Given the description of an element on the screen output the (x, y) to click on. 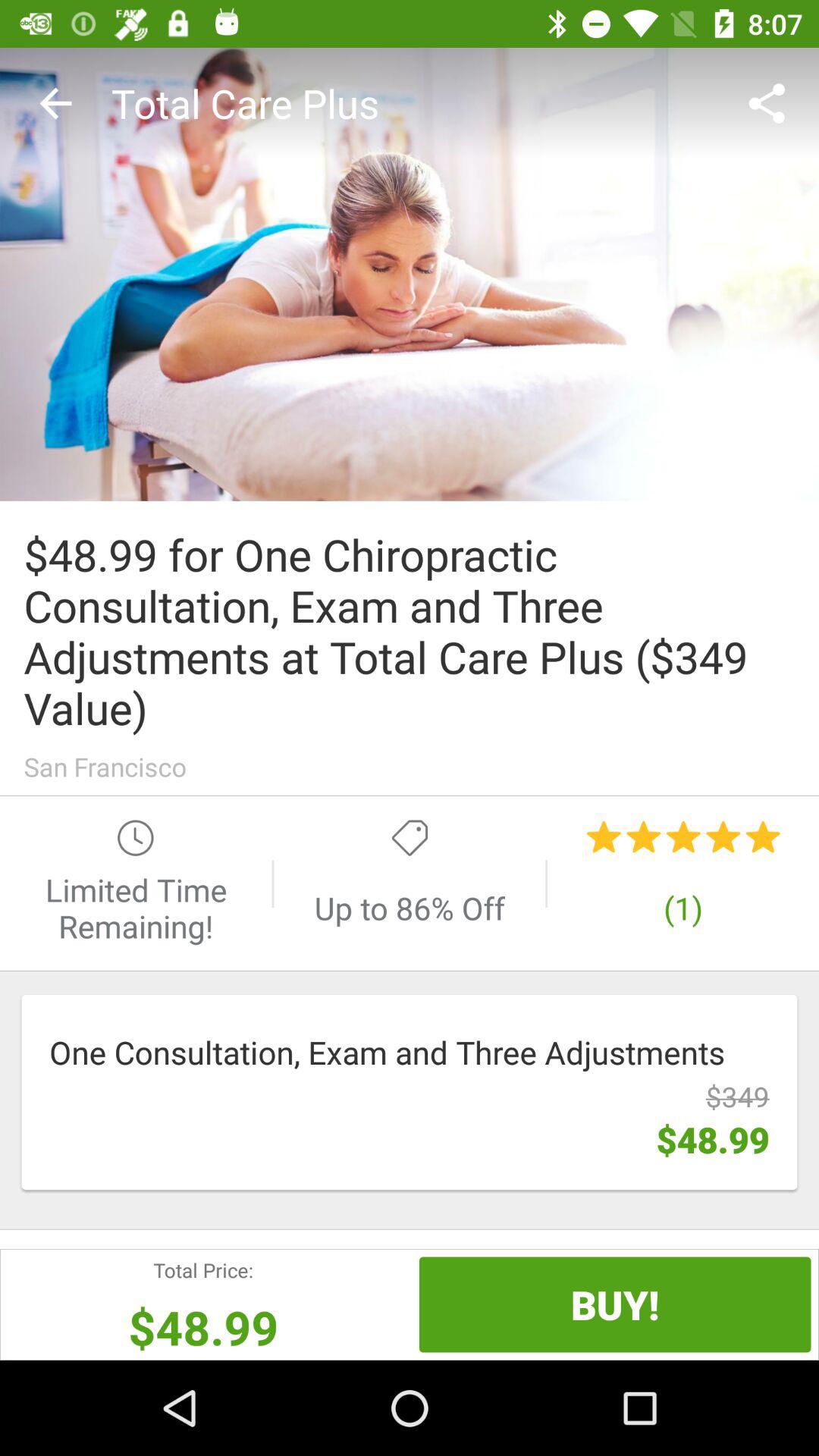
scroll until san francisco icon (409, 766)
